Given the description of an element on the screen output the (x, y) to click on. 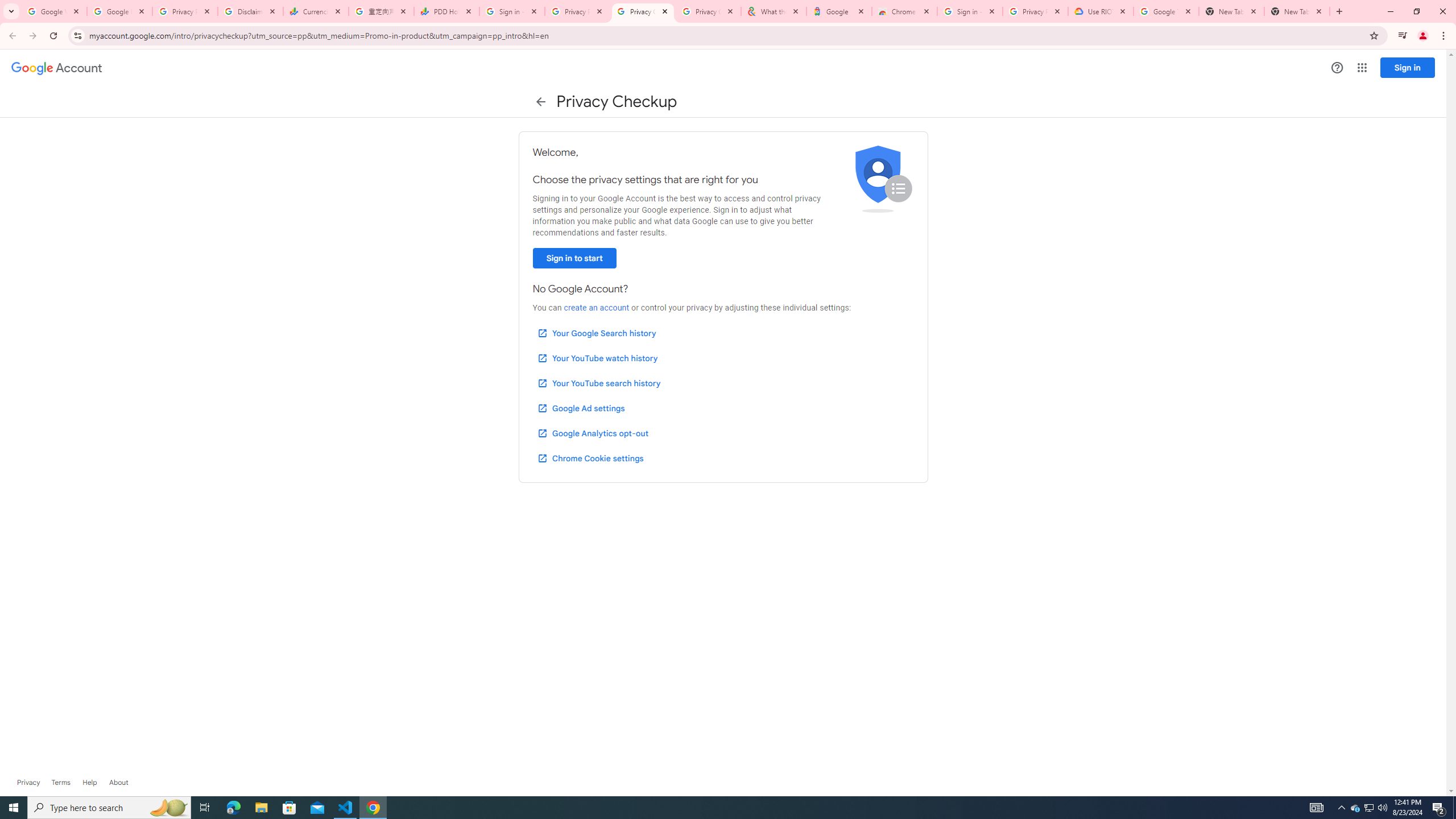
Help (1336, 67)
Google Account settings (56, 68)
Google Ad settings (580, 408)
Your YouTube search history (598, 383)
create an account (595, 307)
Your YouTube watch history (597, 358)
Currencies - Google Finance (315, 11)
